Given the description of an element on the screen output the (x, y) to click on. 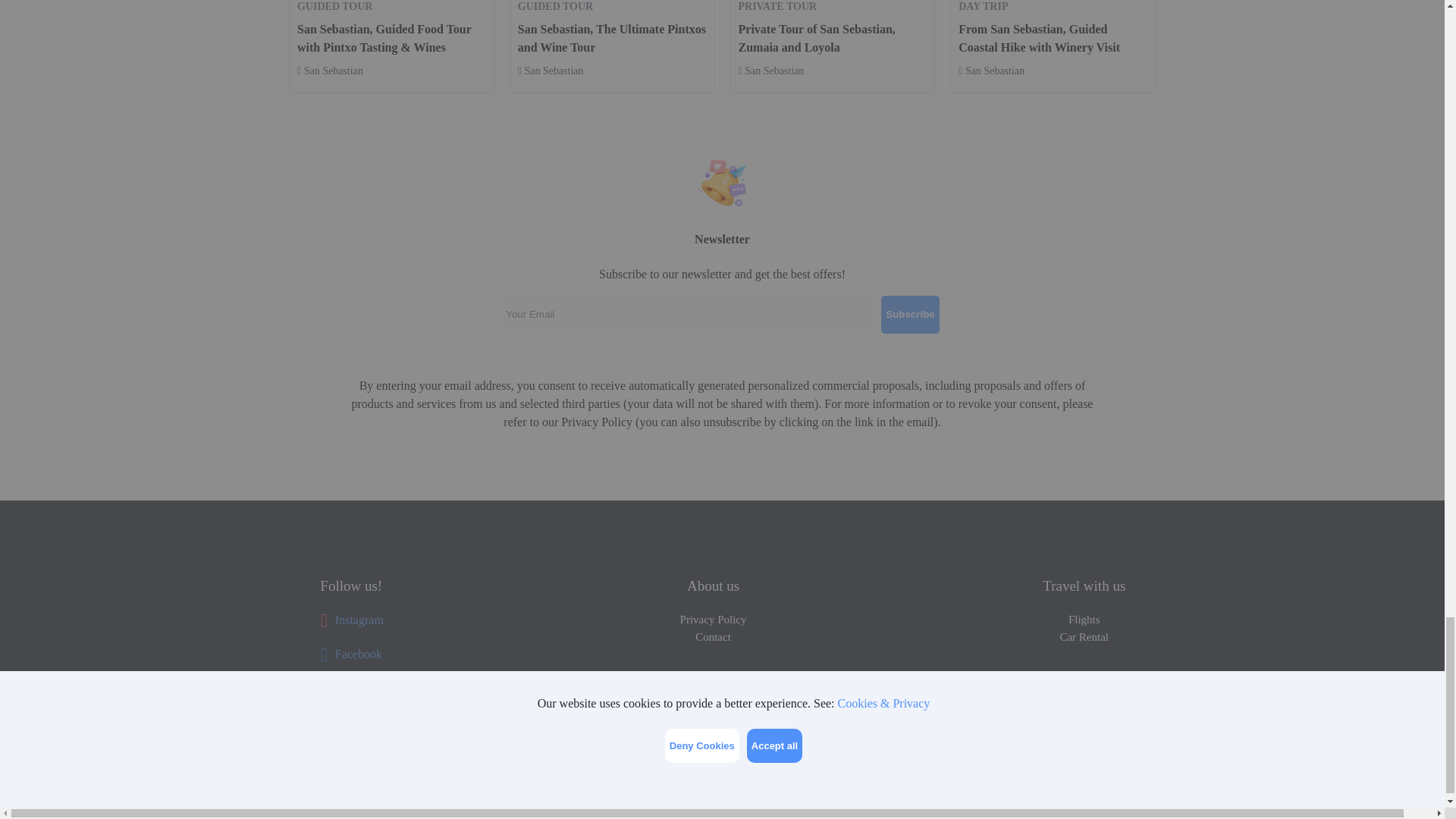
Instagram (351, 619)
Privacy Policy (712, 619)
Car Rental (1083, 637)
Facebook (350, 654)
Subscribe (909, 314)
Flights (1083, 619)
Contact (712, 637)
